Given the description of an element on the screen output the (x, y) to click on. 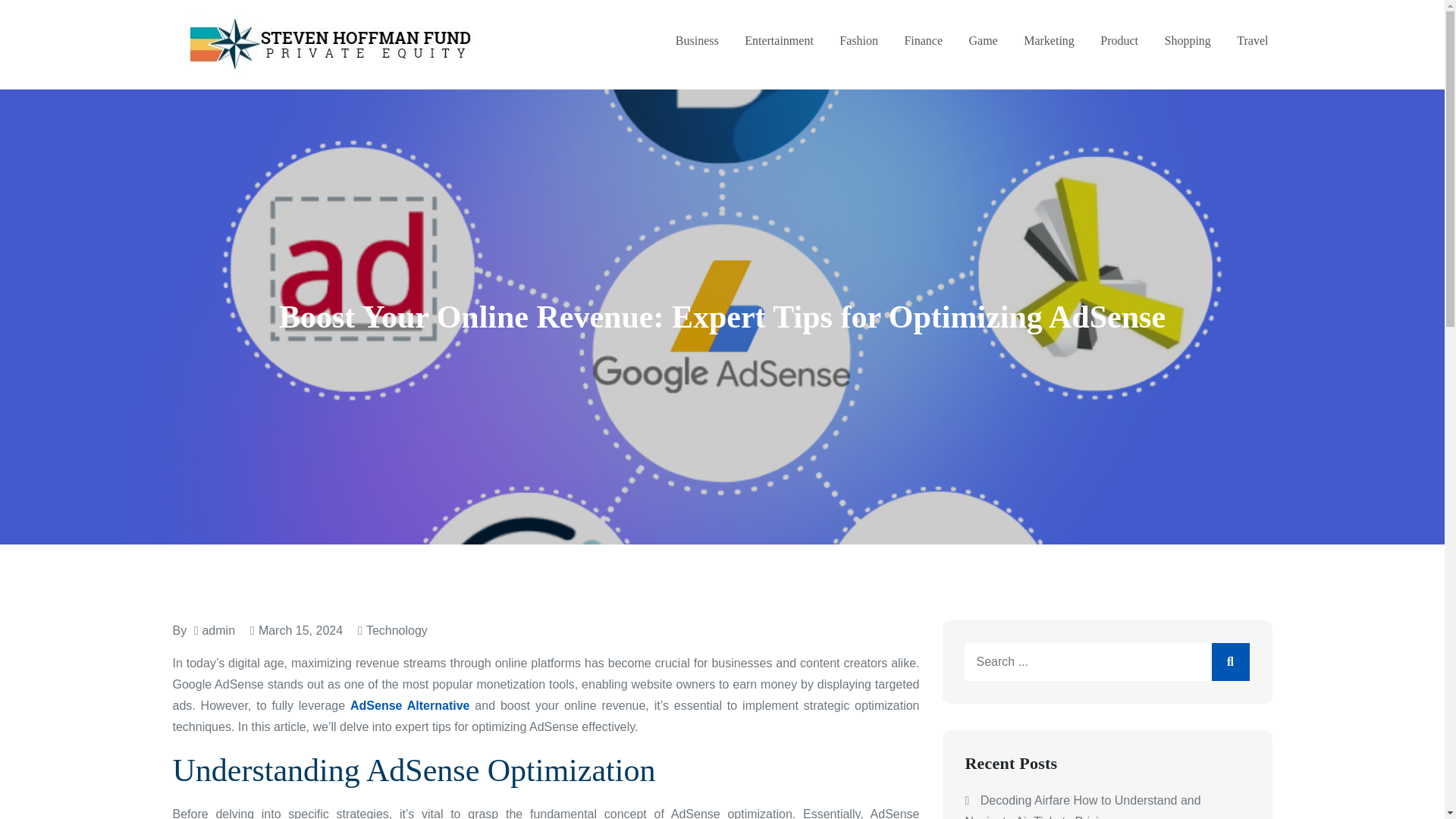
Travel (1252, 40)
Entertainment (778, 40)
Game (983, 40)
Technology (397, 630)
Search for: (1106, 661)
Finance (923, 40)
Search (1230, 661)
Shopping (1187, 40)
Fashion (858, 40)
Business (697, 40)
Marketing (1048, 40)
admin (218, 630)
Product (1119, 40)
Steven Hoffman Fund (615, 59)
